Given the description of an element on the screen output the (x, y) to click on. 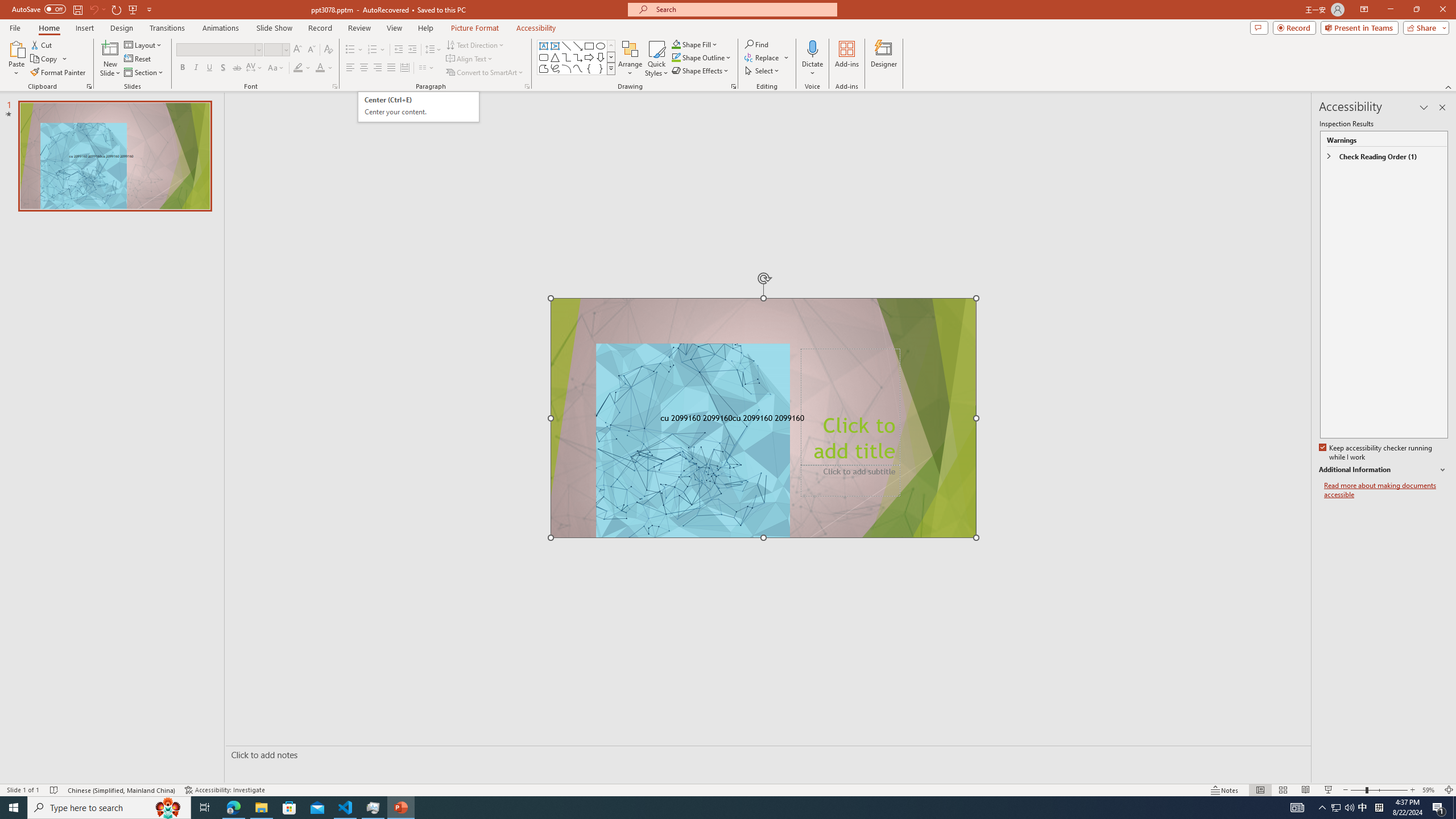
Shape Fill Dark Green, Accent 2 (418, 106)
